Given the description of an element on the screen output the (x, y) to click on. 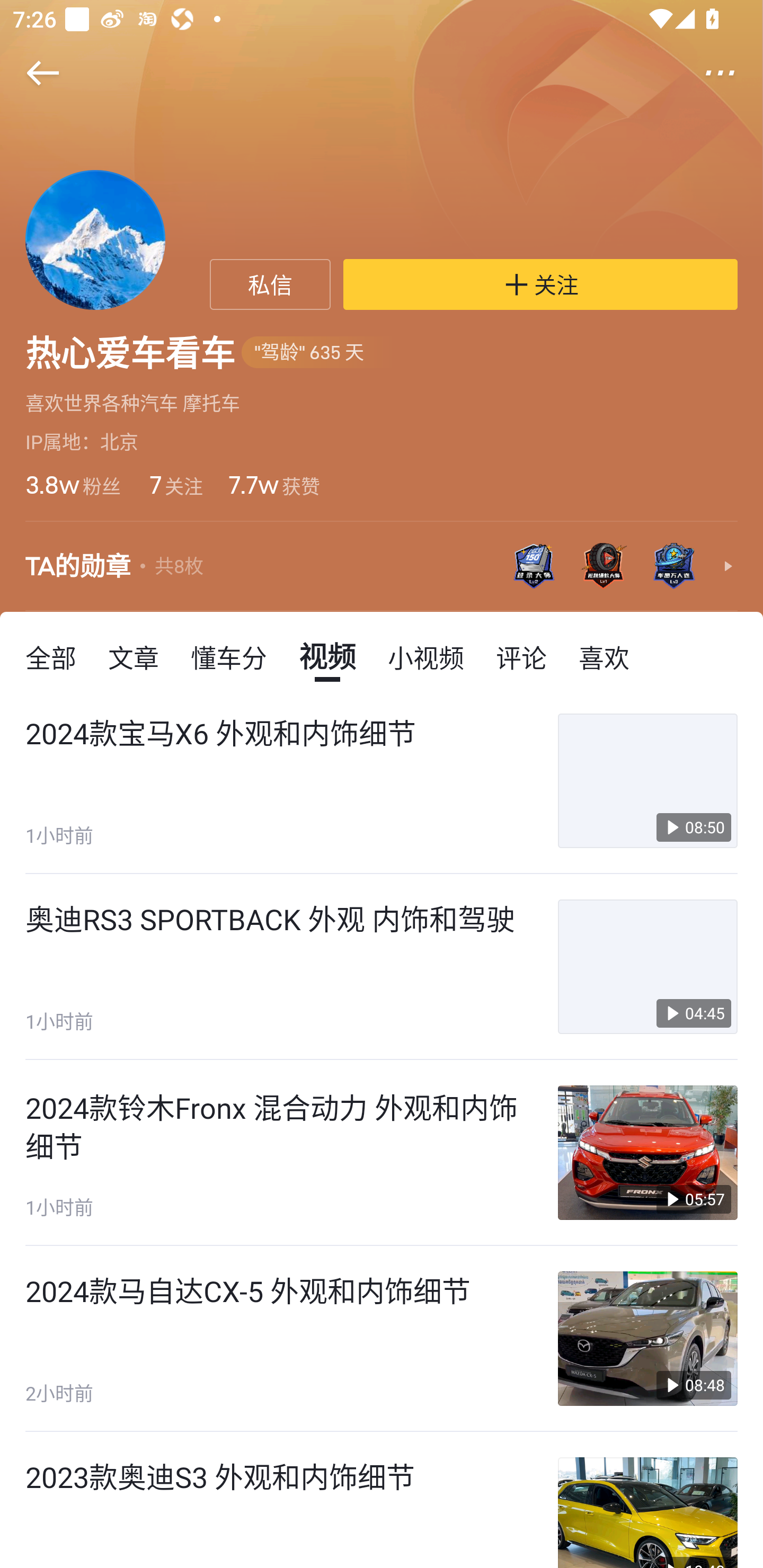
 (30, 72)
 (732, 72)
私信 (269, 284)
 关注 (540, 284)
"驾龄" 635 天 (318, 352)
3.8w 粉丝 (72, 484)
7 关注 (174, 484)
7.7w 获赞 (273, 484)
TA的勋章 共8枚  (381, 566)
全部 (50, 656)
文章 (133, 656)
懂车分 (228, 656)
视频 (327, 656)
小视频 (425, 656)
评论 (521, 656)
喜欢 (603, 656)
2024款宝马X6 外观和内饰细节 1小时前  08:50 (381, 780)
奥迪RS3 SPORTBACK 外观 内饰和驾驶 1小时前  04:45 (381, 966)
2024款铃木Fronx 混合动力 外观和内饰细节 1小时前  05:57 (381, 1152)
2024款马自达CX-5 外观和内饰细节 2小时前  08:48 (381, 1338)
2023款奥迪S3 外观和内饰细节 3小时前  10:40 (381, 1499)
